Given the description of an element on the screen output the (x, y) to click on. 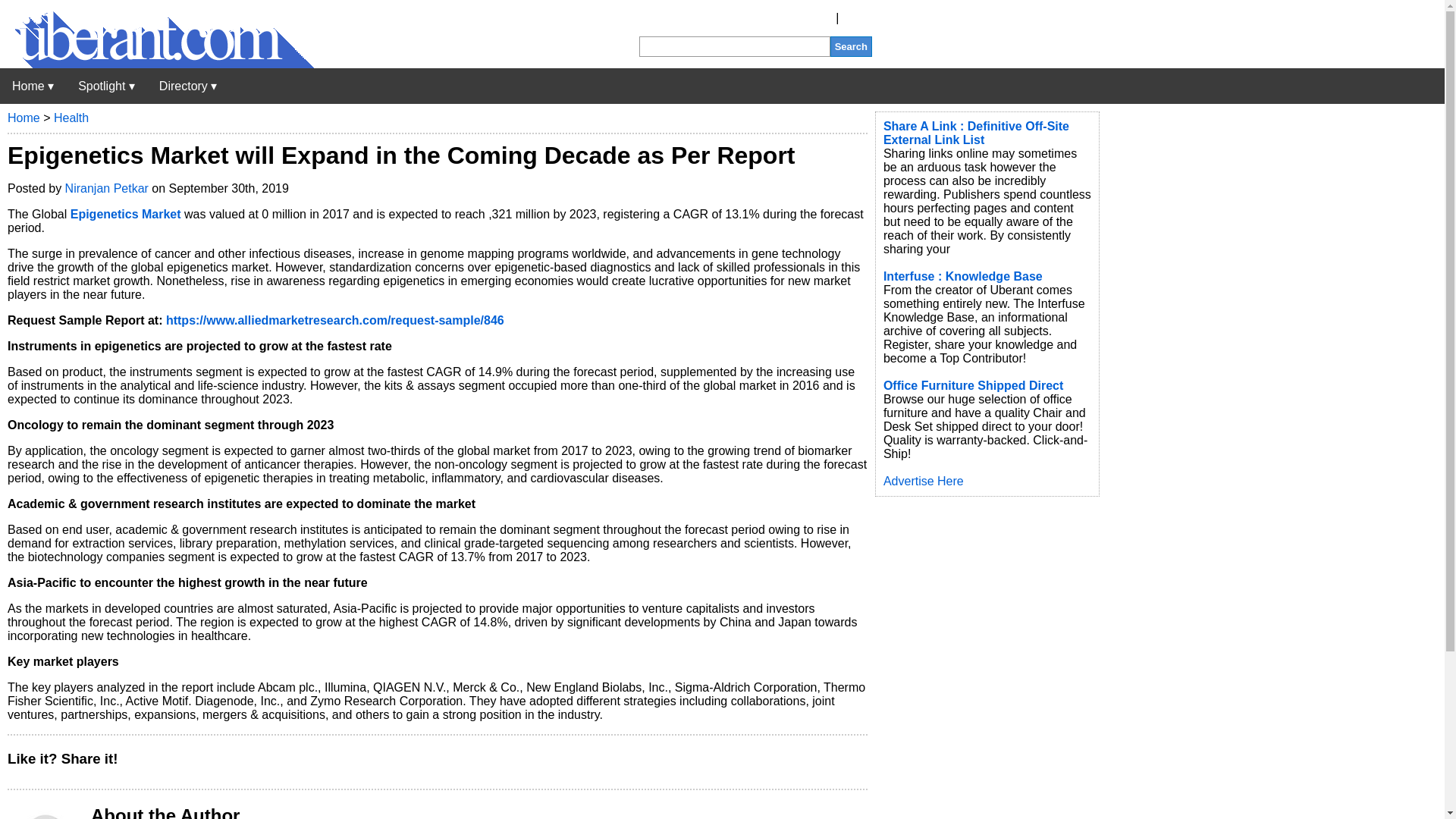
Uberant (32, 85)
Search (850, 46)
Search (850, 46)
Login (857, 17)
Register (809, 17)
Uberant (157, 63)
